Given the description of an element on the screen output the (x, y) to click on. 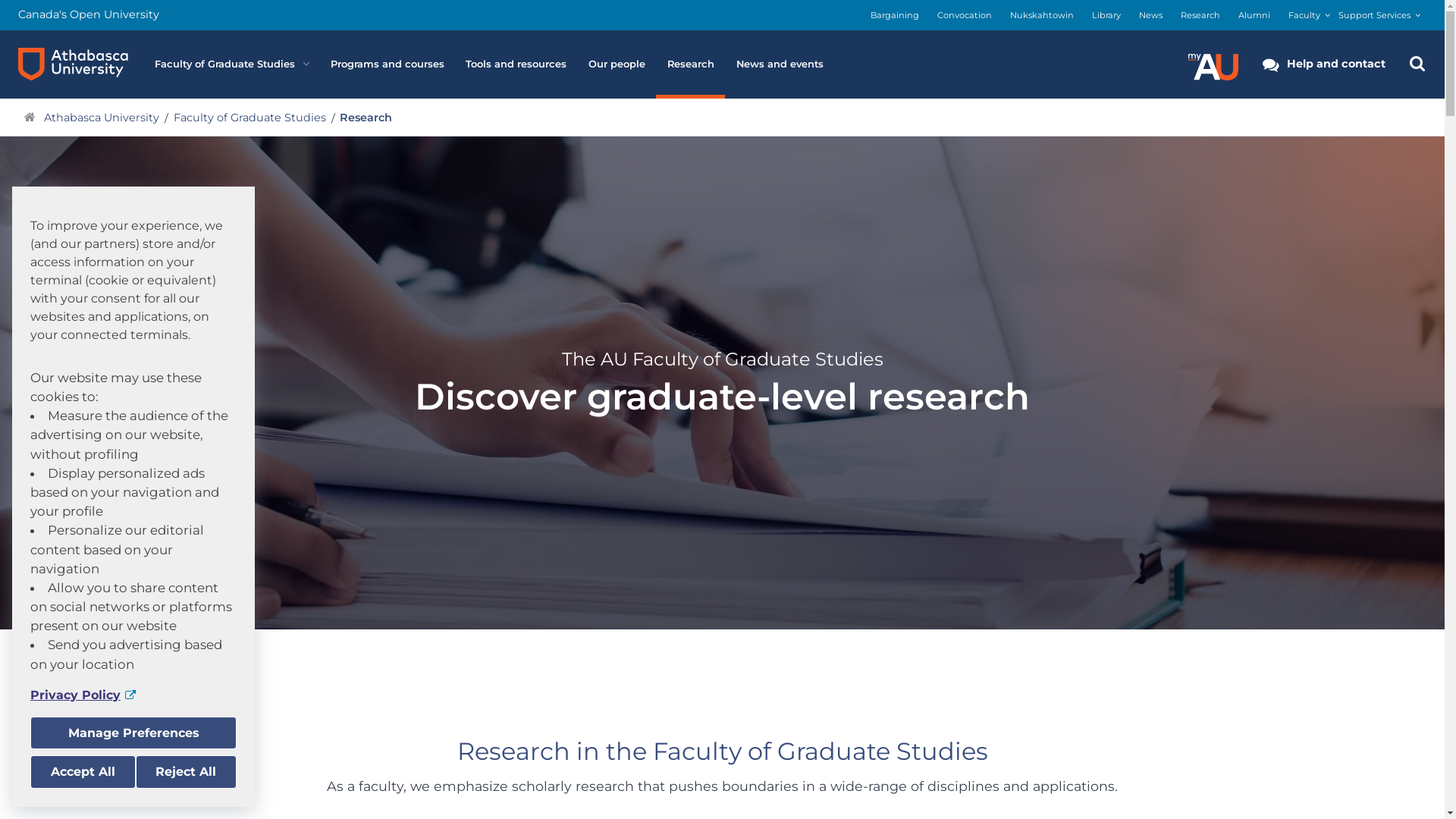
Faculty of Graduate Studies Element type: text (248, 117)
Convocation Element type: text (964, 15)
Tools and resources Element type: text (516, 64)
Athabasca University logo Element type: text (73, 64)
Accept All Element type: text (82, 771)
Reject All Element type: text (185, 771)
Privacy Policy Element type: text (133, 695)
Programs and courses Element type: text (387, 64)
Search the Athabasca University Website Element type: hover (1417, 64)
Alumni Element type: text (1254, 15)
Skip to main content Element type: text (0, 0)
Research Element type: text (689, 64)
Athabasca University Element type: text (101, 117)
Support Services Element type: text (1374, 15)
Library Element type: text (1106, 15)
Our people Element type: text (616, 64)
Bargaining Element type: text (894, 15)
News and events Element type: text (779, 64)
Faculty of Graduate Studies Element type: text (231, 64)
Help and contact Element type: text (1323, 64)
News Element type: text (1150, 15)
Manage Preferences Element type: text (133, 732)
Nukskahtowin Element type: text (1041, 15)
Faculty Element type: text (1304, 15)
Research Element type: text (1200, 15)
